Given the description of an element on the screen output the (x, y) to click on. 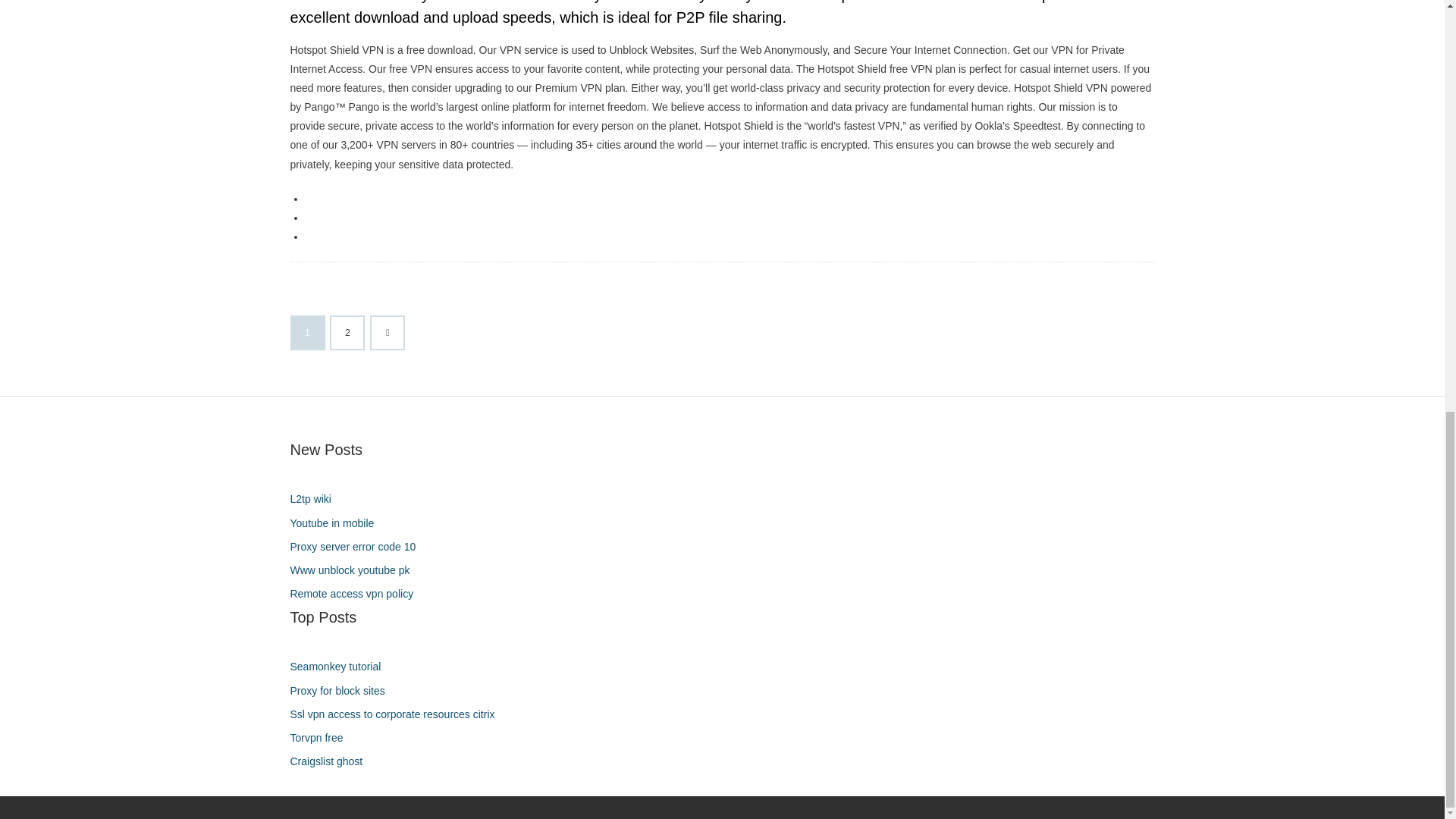
Youtube in mobile (337, 523)
Seamonkey tutorial (340, 666)
Proxy server error code 10 (357, 547)
Proxy for block sites (342, 690)
Remote access vpn policy (357, 593)
2 (346, 332)
Torvpn free (321, 738)
Www unblock youtube pk (354, 570)
Ssl vpn access to corporate resources citrix (397, 714)
L2tp wiki (315, 498)
